Given the description of an element on the screen output the (x, y) to click on. 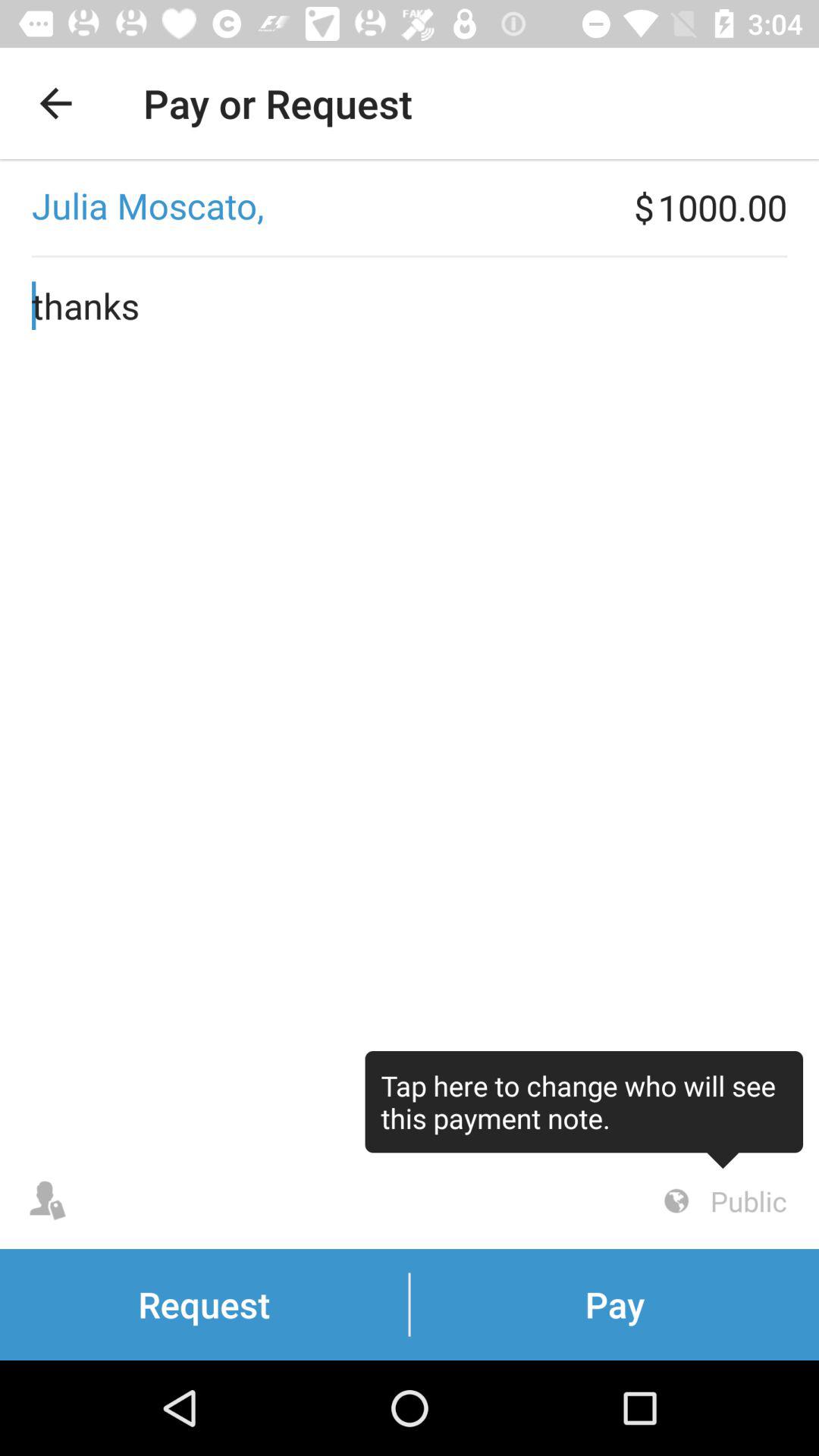
click the item to the left of the $ icon (317, 207)
